Given the description of an element on the screen output the (x, y) to click on. 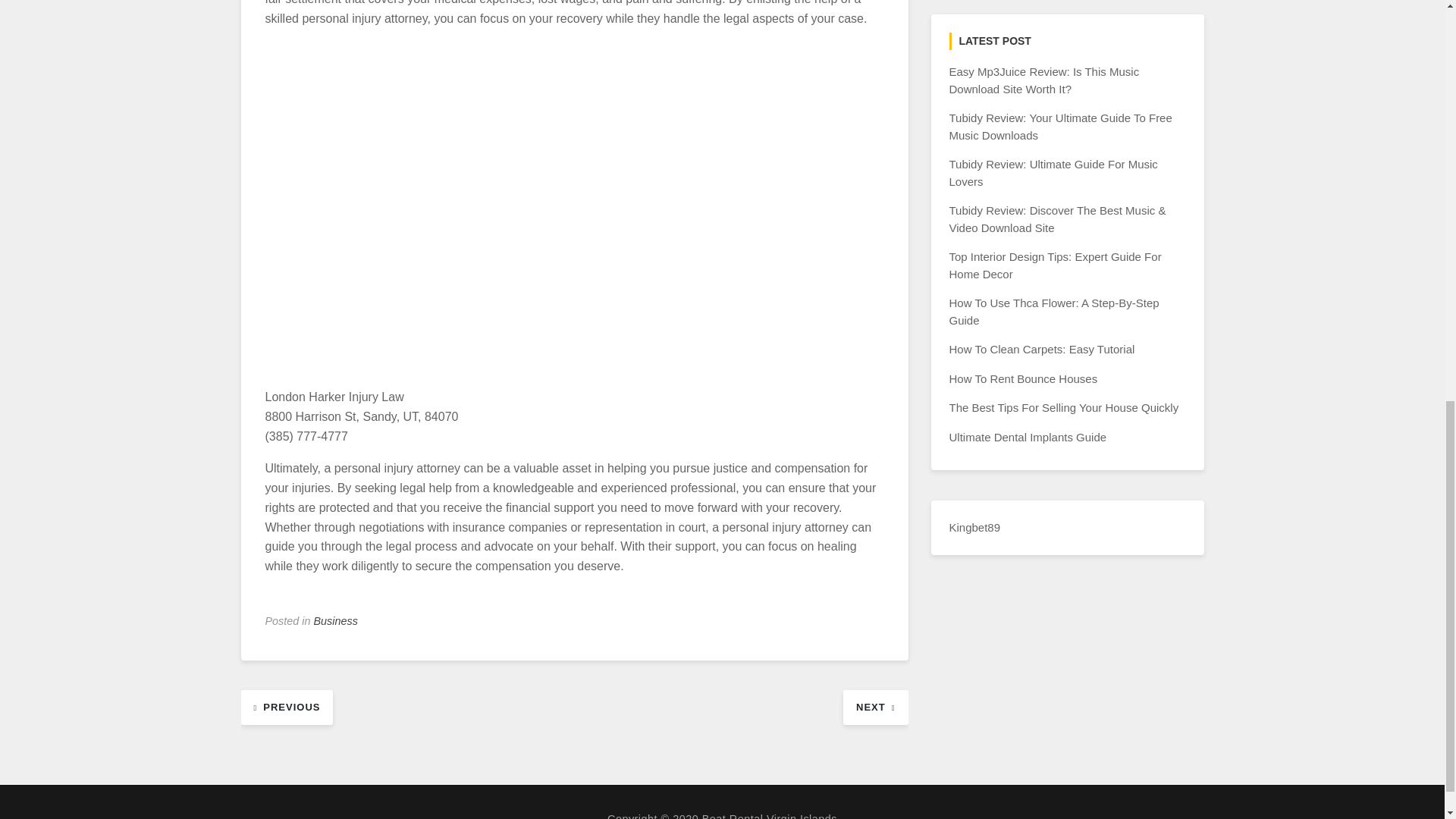
The Best Tips For Selling Your House Quickly (1064, 407)
Business (336, 621)
Kingbet89 (975, 526)
Ultimate Dental Implants Guide (1027, 436)
Tubidy Review: Ultimate Guide For Music Lovers (1053, 173)
Tubidy Review: Your Ultimate Guide To Free Music Downloads (1060, 126)
Top Interior Design Tips: Expert Guide For Home Decor (1055, 265)
PREVIOUS (287, 706)
How To Rent Bounce Houses (1023, 378)
How To Clean Carpets: Easy Tutorial (1042, 349)
